Given the description of an element on the screen output the (x, y) to click on. 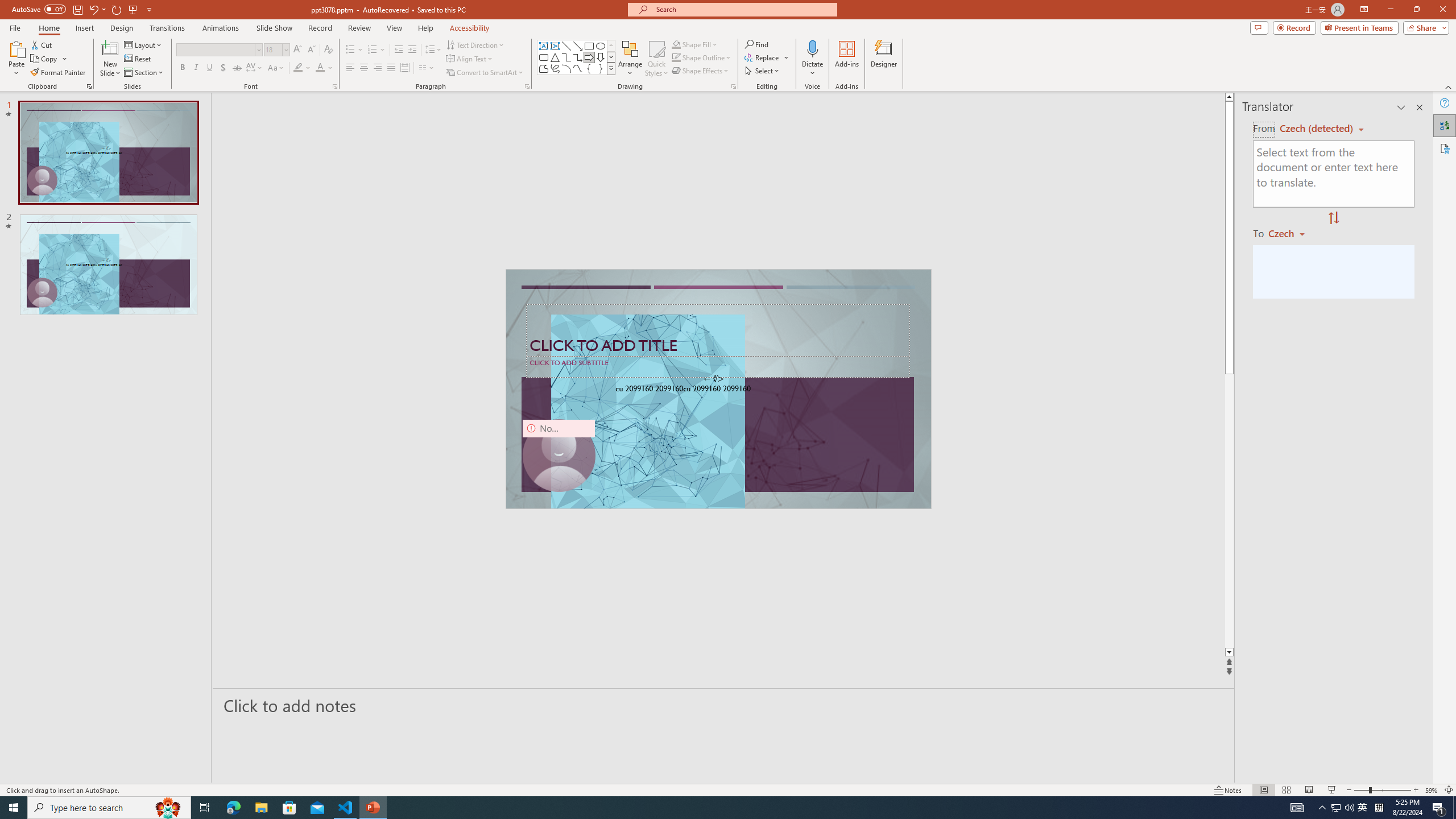
Customize Layout... (1043, 150)
Explorer (Ctrl+Shift+E) (76, 221)
Class: xterm-decoration-overview-ruler (928, 480)
Microsoft security help and learning (23, 348)
